Given the description of an element on the screen output the (x, y) to click on. 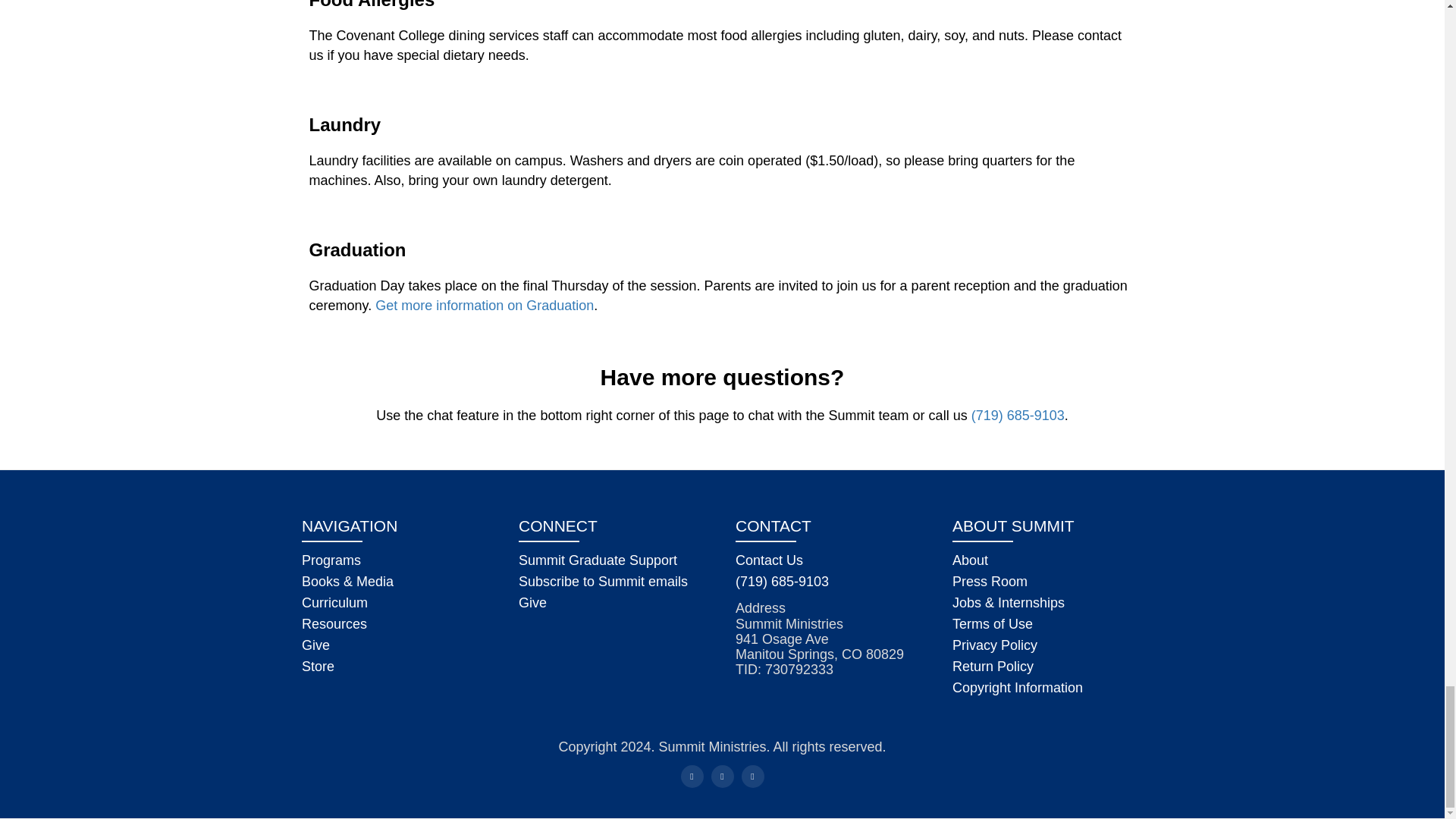
Contact Summit (769, 560)
